Given the description of an element on the screen output the (x, y) to click on. 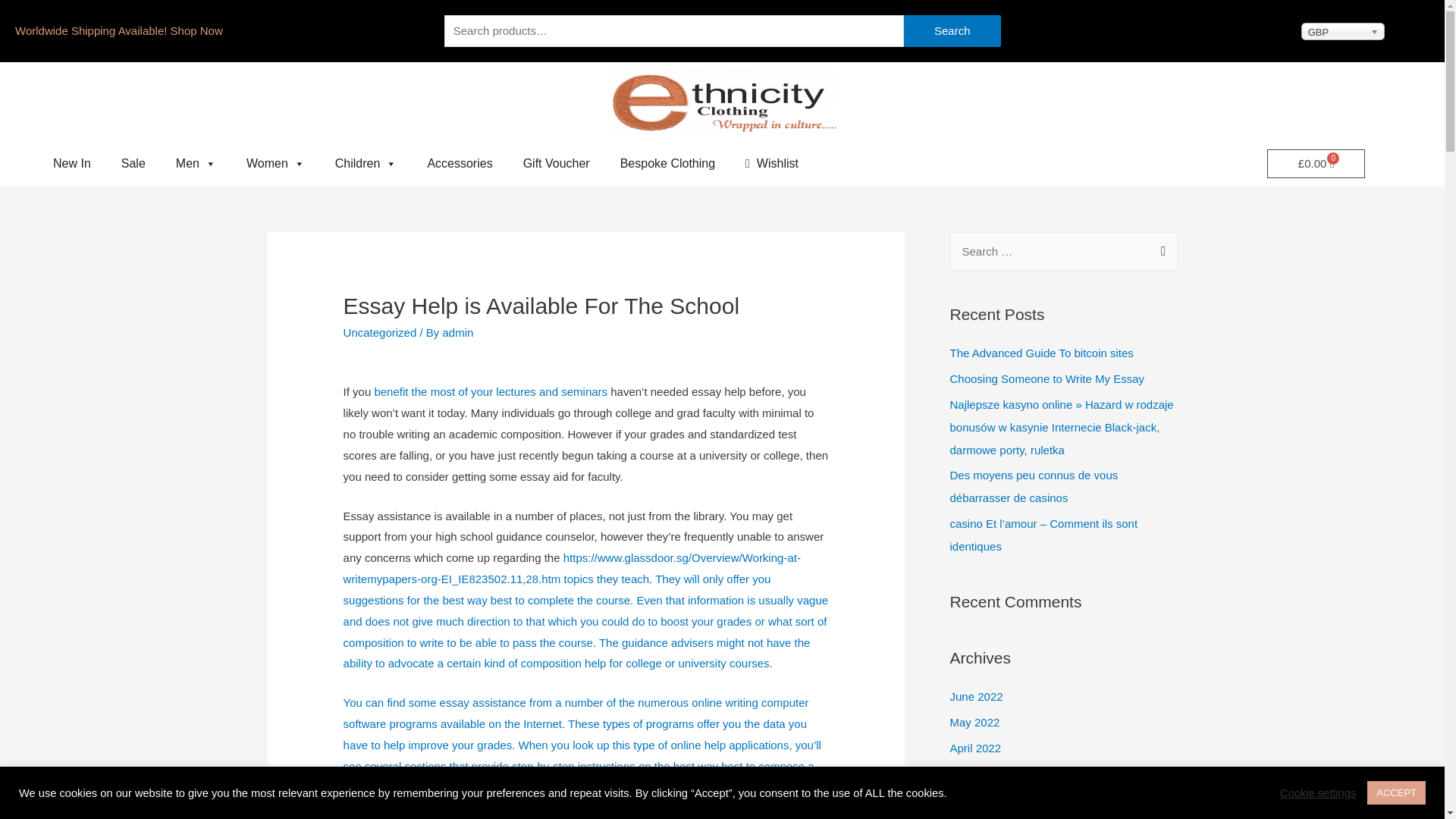
Accessories (459, 163)
admin (457, 332)
GBP (1342, 31)
Search (952, 30)
benefit the most of your lectures and seminars (490, 391)
View all posts by admin (457, 332)
Men (195, 163)
Gift Voucher (556, 163)
Uncategorized (379, 332)
Children (366, 163)
  Wishlist (771, 163)
Women (275, 163)
Bespoke Clothing (667, 163)
New In (71, 163)
Sale (133, 163)
